Given the description of an element on the screen output the (x, y) to click on. 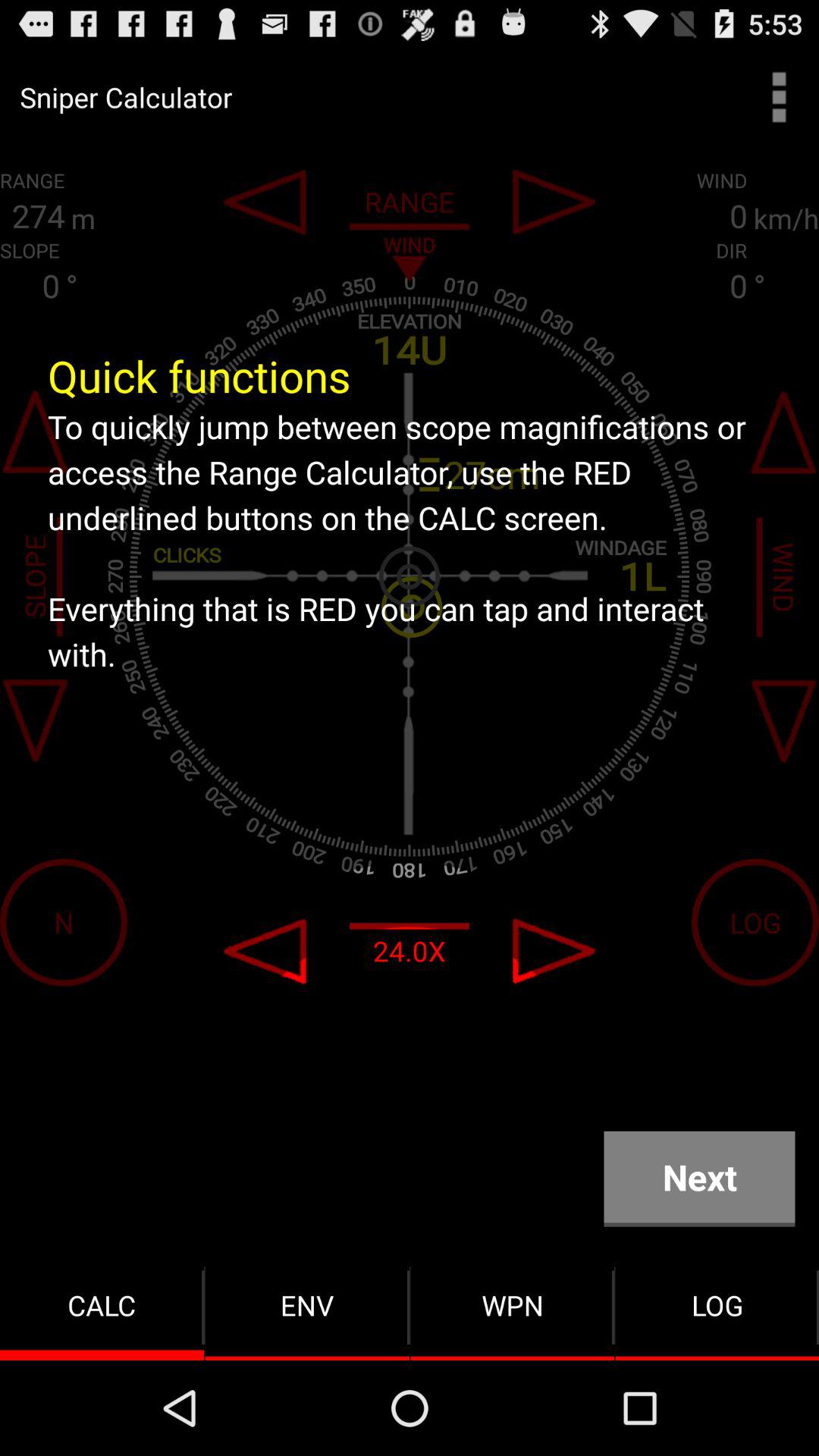
open the item next to the sniper calculator app (779, 97)
